Given the description of an element on the screen output the (x, y) to click on. 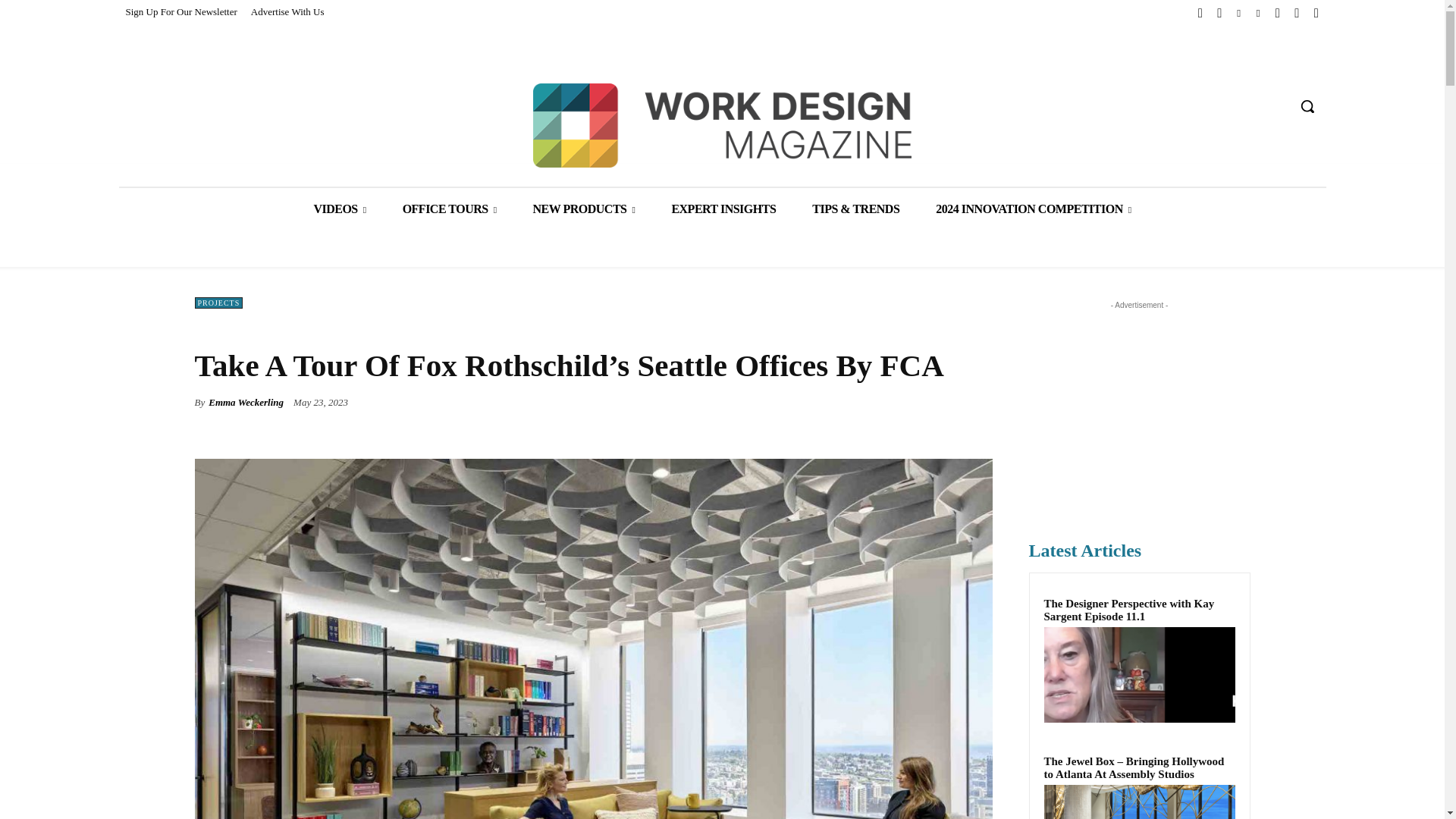
Facebook (1200, 13)
Youtube (1297, 13)
Pinterest (1257, 13)
Linkedin (1238, 13)
VIDEOS (339, 209)
Instagram (1277, 13)
Advertise With Us (287, 12)
Sign Up For Our Newsletter (180, 12)
Twitter (1219, 13)
Tiktok (1316, 13)
